Given the description of an element on the screen output the (x, y) to click on. 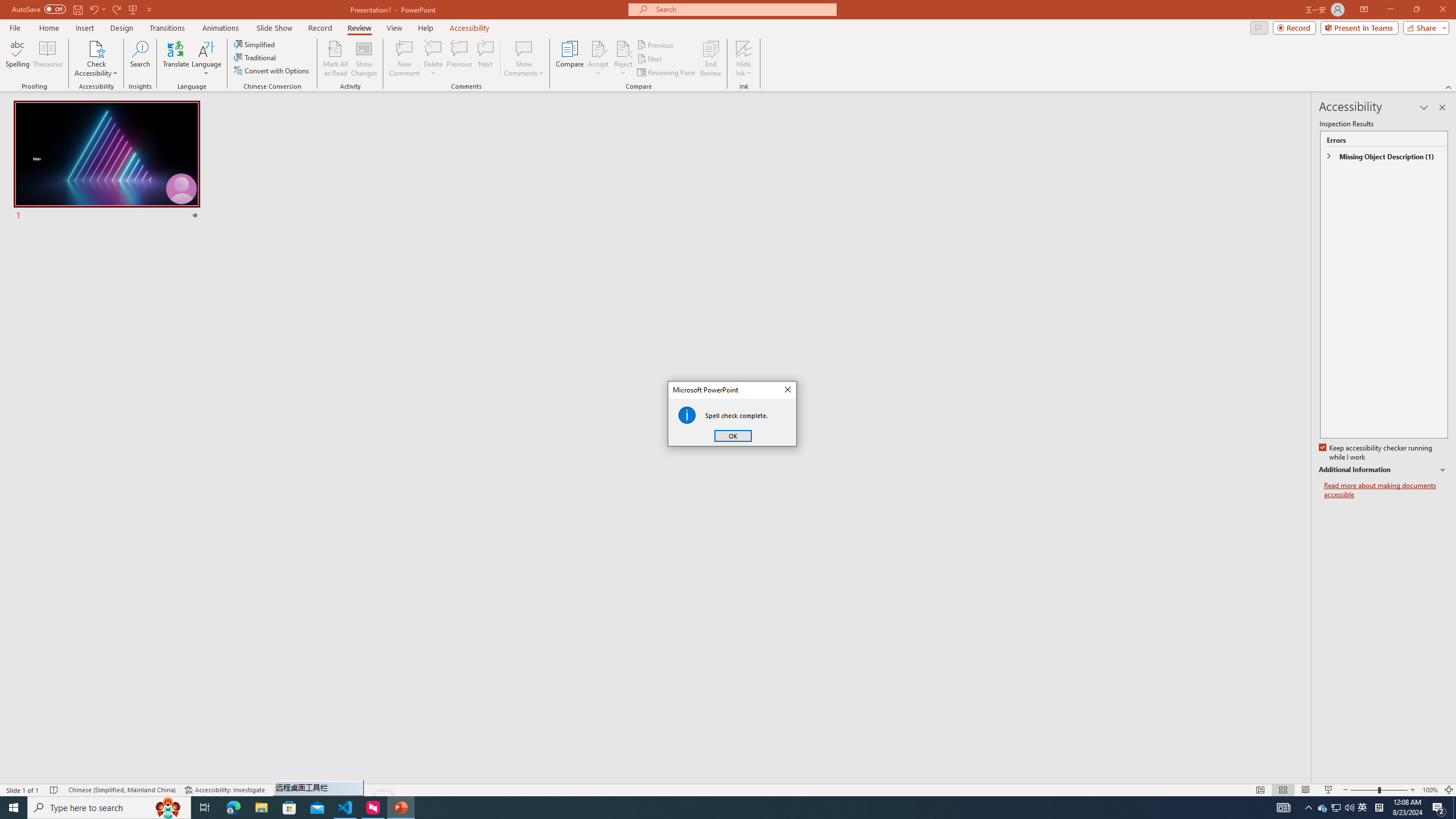
Class: Static (686, 415)
Zoom 100% (1430, 790)
